Given the description of an element on the screen output the (x, y) to click on. 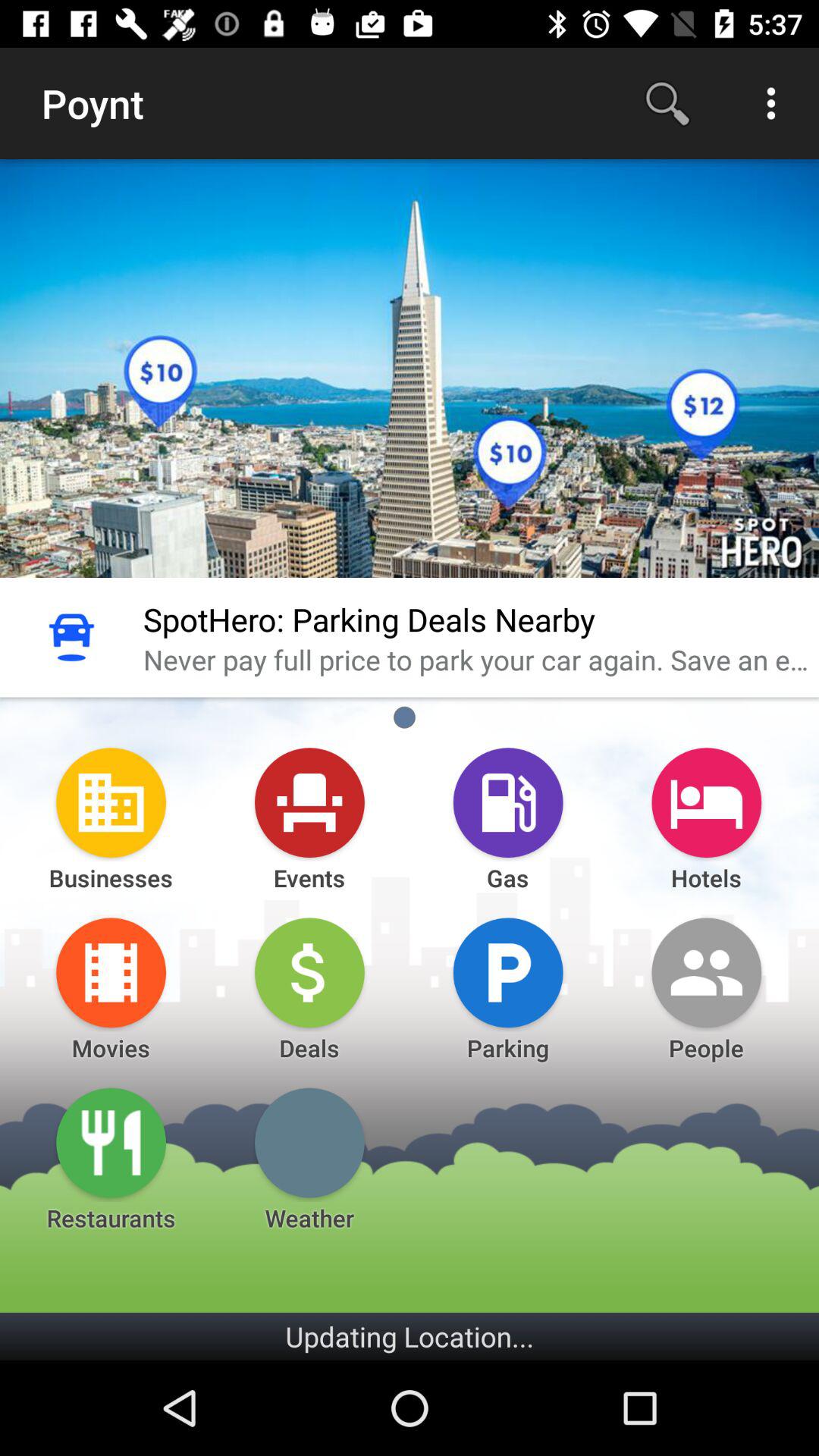
click on the image icon above restaurants text option (111, 1142)
click the above right  3 dots button (771, 103)
select hotel icon on the page (706, 802)
select a icon which is above parking (508, 972)
select option movies from the second line (111, 972)
